Given the description of an element on the screen output the (x, y) to click on. 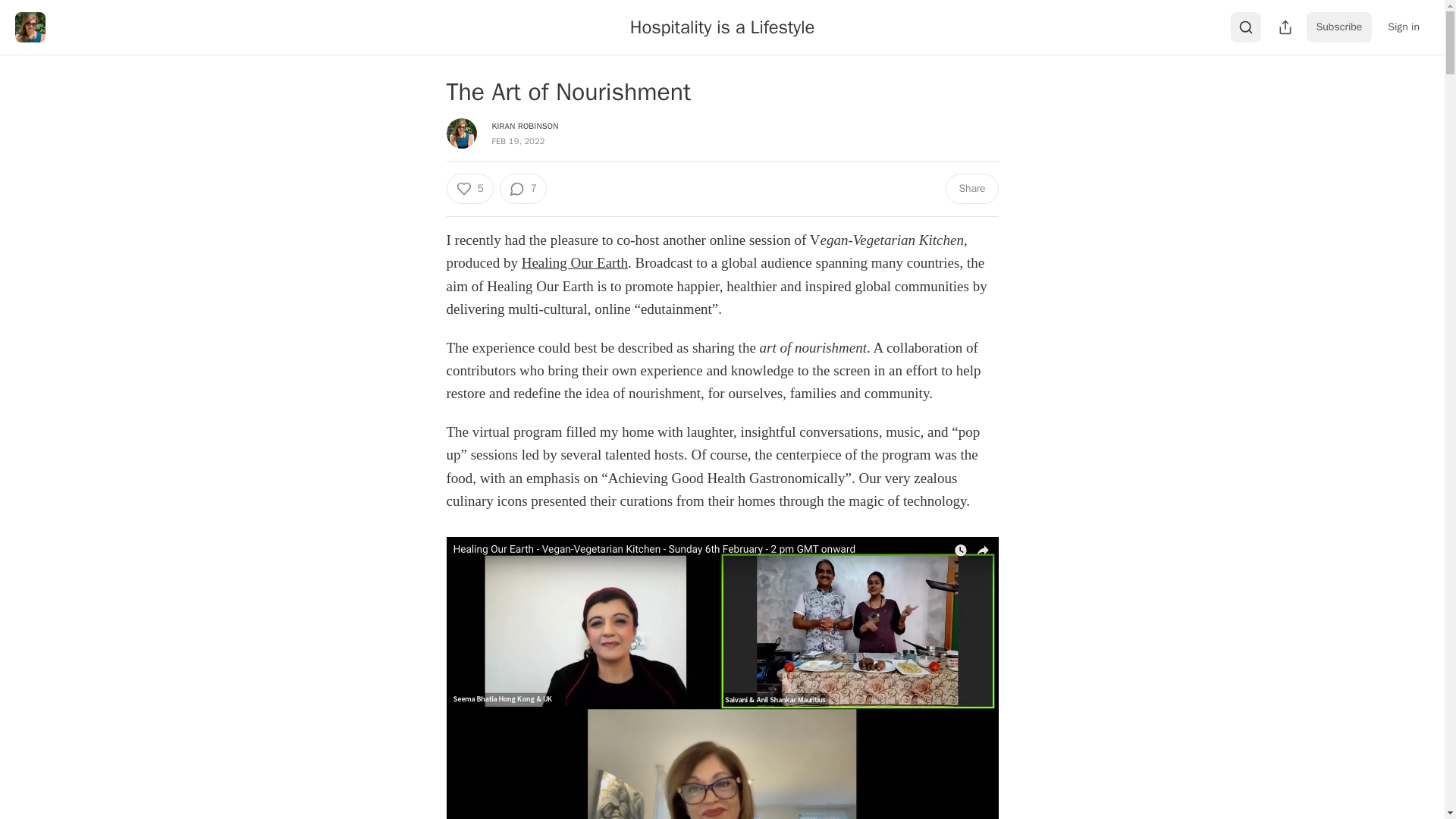
Sign in (1403, 27)
Healing Our Earth (574, 262)
Share (970, 188)
KIRAN ROBINSON (524, 125)
7 (523, 188)
5 (469, 188)
Subscribe (1339, 27)
Hospitality is a Lifestyle (721, 26)
